Given the description of an element on the screen output the (x, y) to click on. 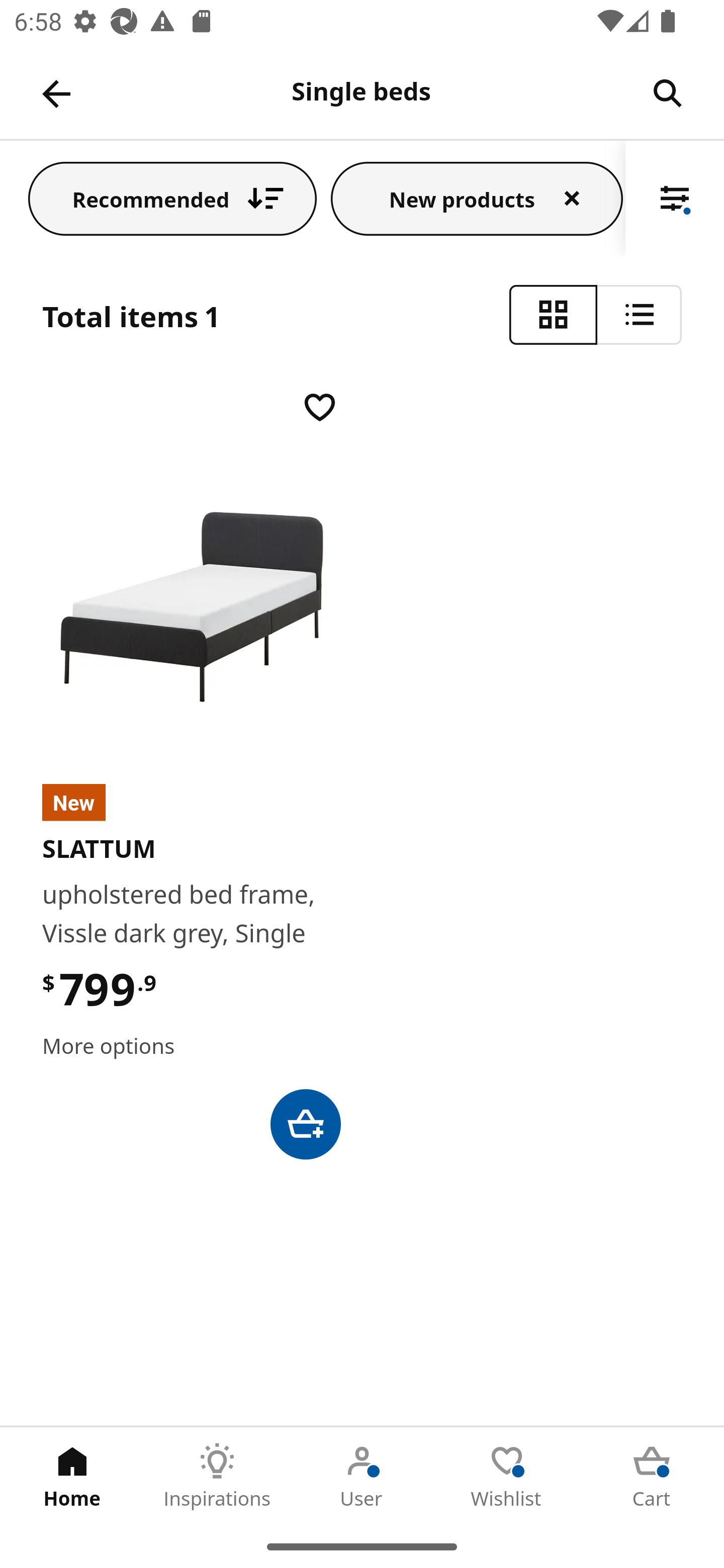
Recommended (172, 198)
New products (476, 198)
Home
Tab 1 of 5 (72, 1476)
Inspirations
Tab 2 of 5 (216, 1476)
User
Tab 3 of 5 (361, 1476)
Wishlist
Tab 4 of 5 (506, 1476)
Cart
Tab 5 of 5 (651, 1476)
